Given the description of an element on the screen output the (x, y) to click on. 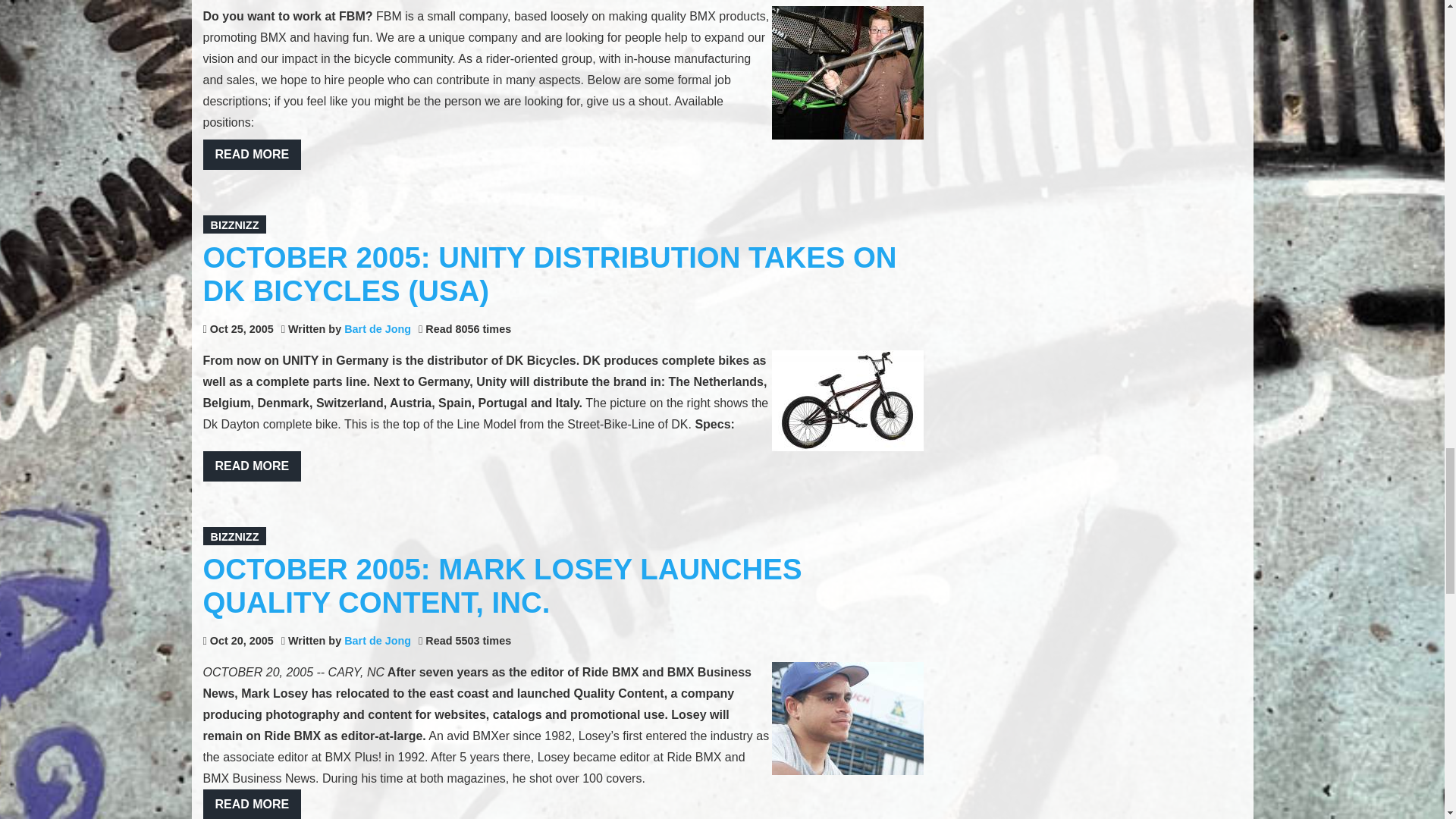
FBM goes flatland (847, 72)
DK Dayton (847, 400)
Mark Losey (847, 717)
